Given the description of an element on the screen output the (x, y) to click on. 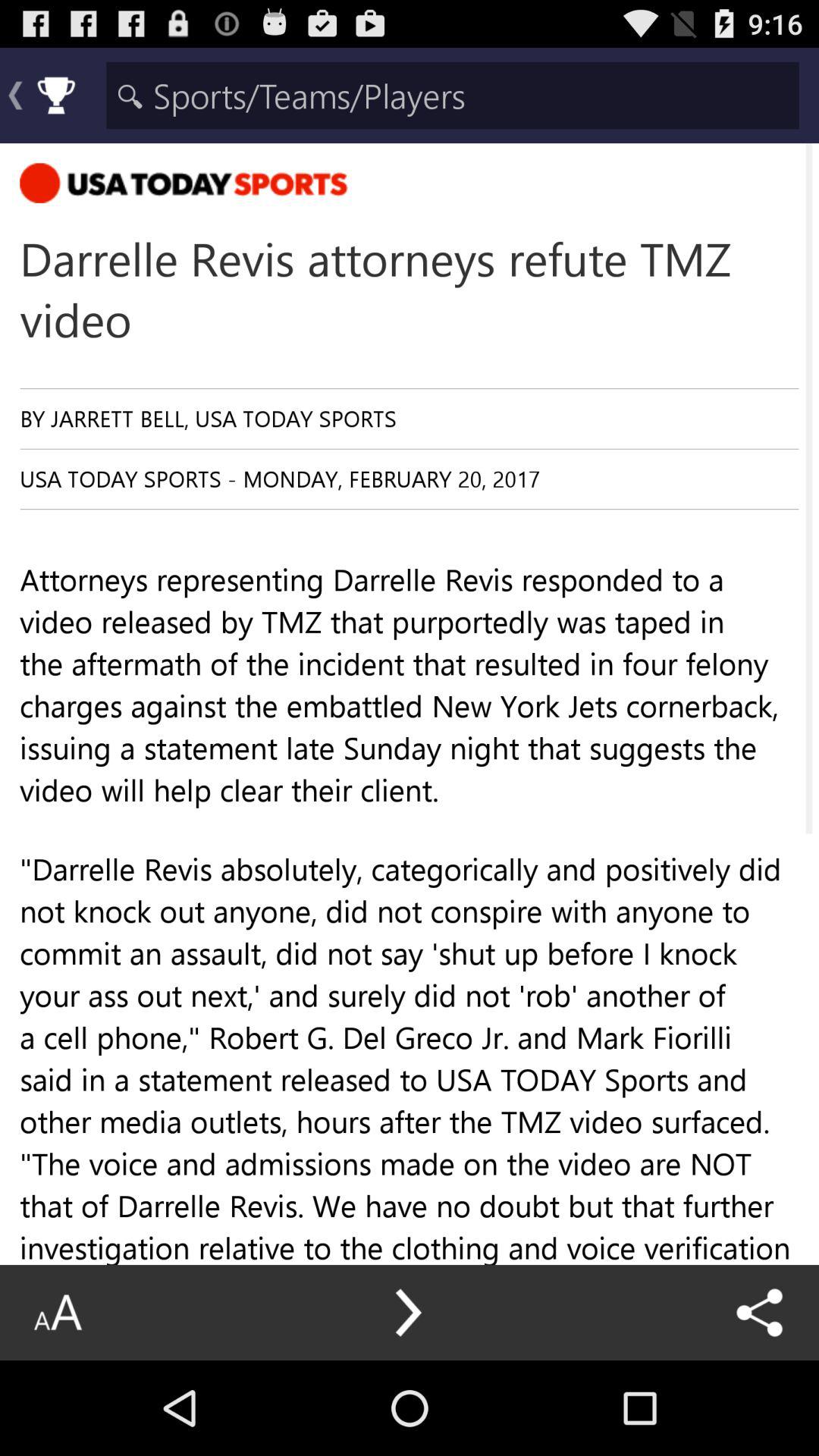
tap the icon at the bottom left corner (58, 1312)
